Given the description of an element on the screen output the (x, y) to click on. 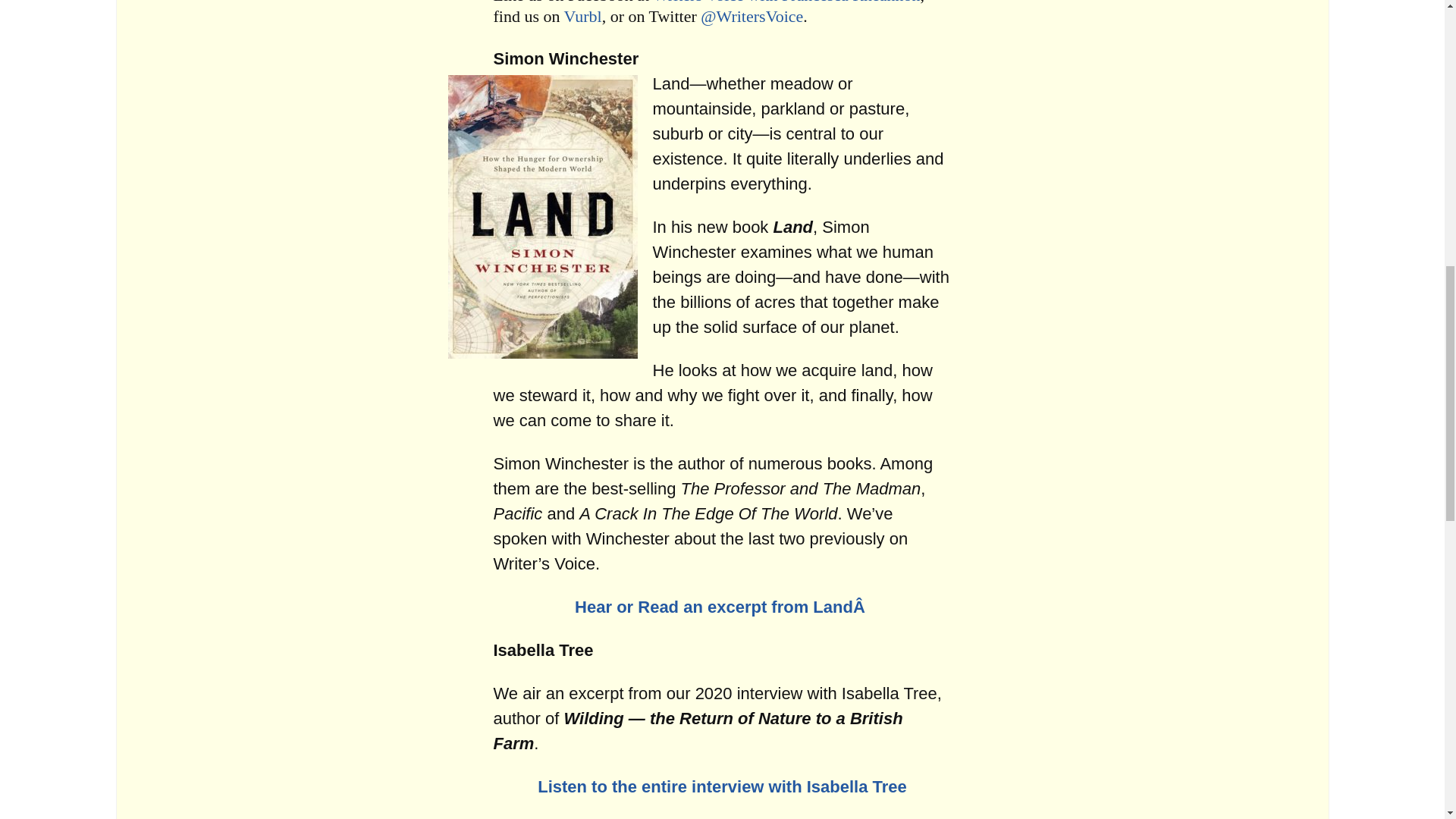
Vurbl (583, 15)
Writers Voice with Francesca Rheannon (786, 2)
Listen to the entire interview with Isabella Tree (722, 786)
